Given the description of an element on the screen output the (x, y) to click on. 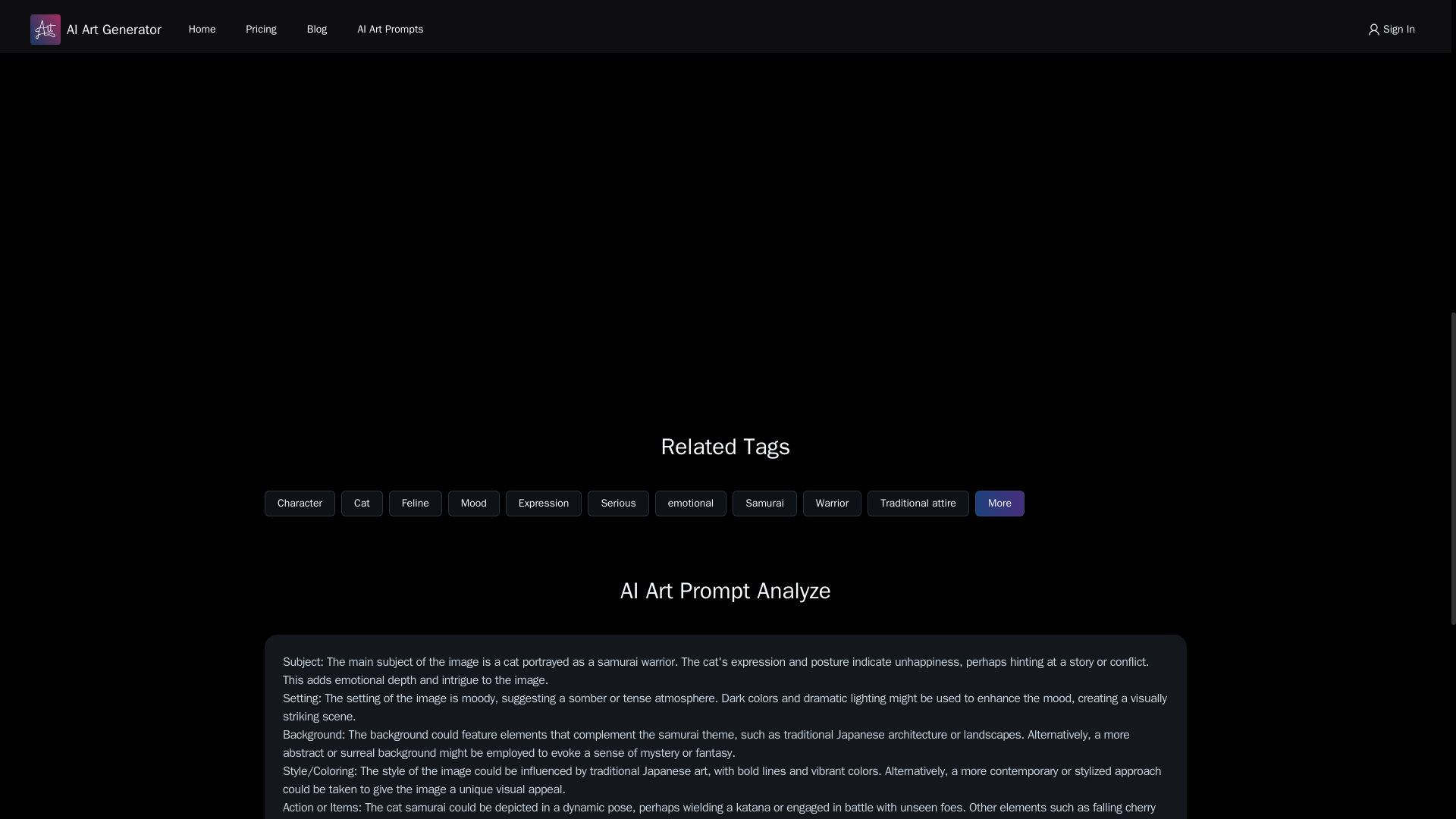
Warrior (832, 503)
Samurai (764, 503)
More (1000, 503)
Expression (543, 503)
emotional (690, 503)
Cat (361, 503)
Mood (473, 503)
Traditional attire (918, 503)
Feline (415, 503)
Serious (617, 503)
Character (299, 503)
